Given the description of an element on the screen output the (x, y) to click on. 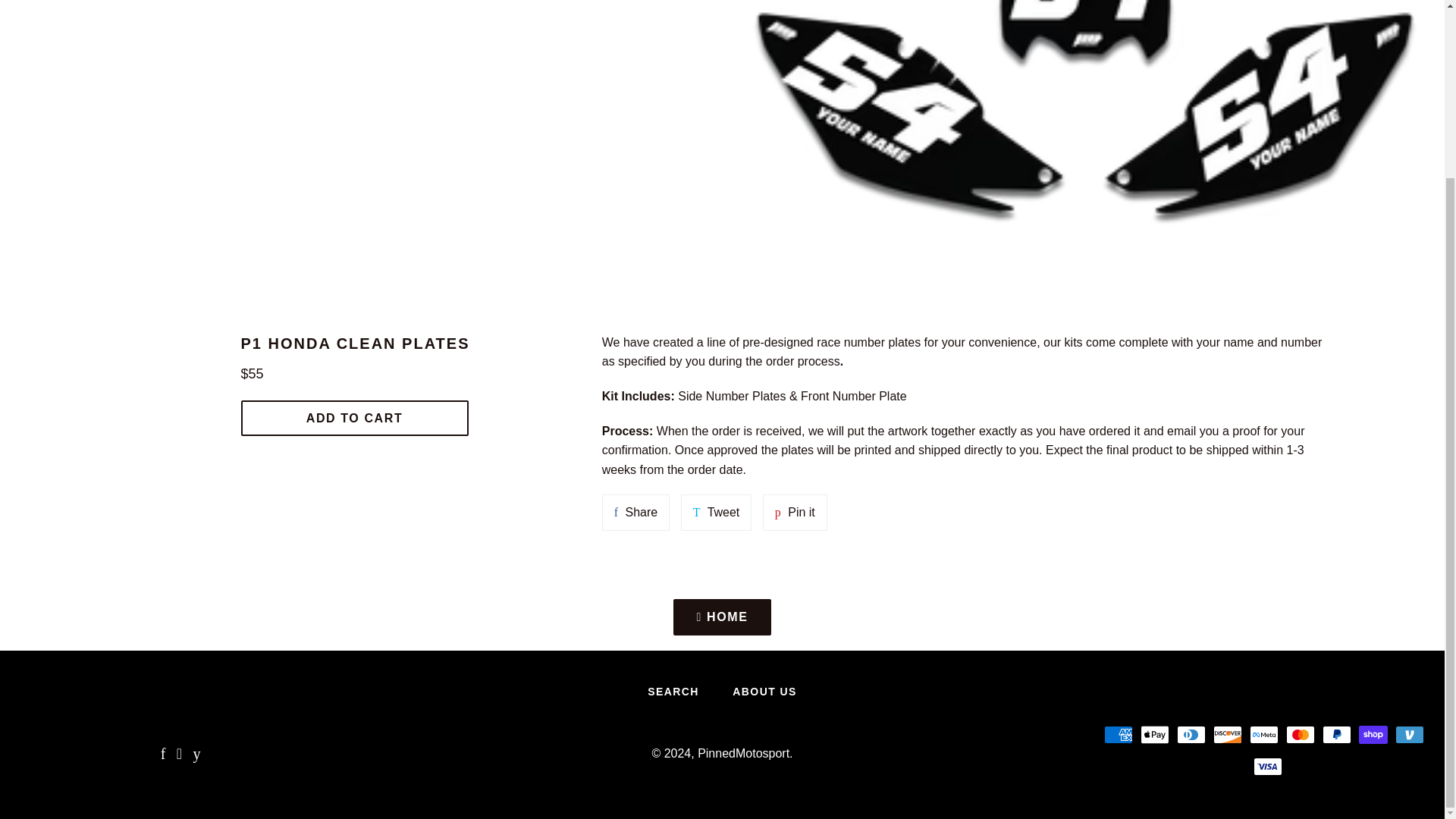
Mastercard (1299, 734)
Diners Club (1190, 734)
Apple Pay (1154, 734)
Venmo (1408, 734)
Discover (1226, 734)
American Express (1117, 734)
Share on Facebook (635, 512)
ADD TO CART (354, 417)
Pin on Pinterest (794, 512)
Tweet on Twitter (635, 512)
Shop Pay (716, 512)
Visa (1372, 734)
Meta Pay (1267, 766)
PayPal (1263, 734)
